Given the description of an element on the screen output the (x, y) to click on. 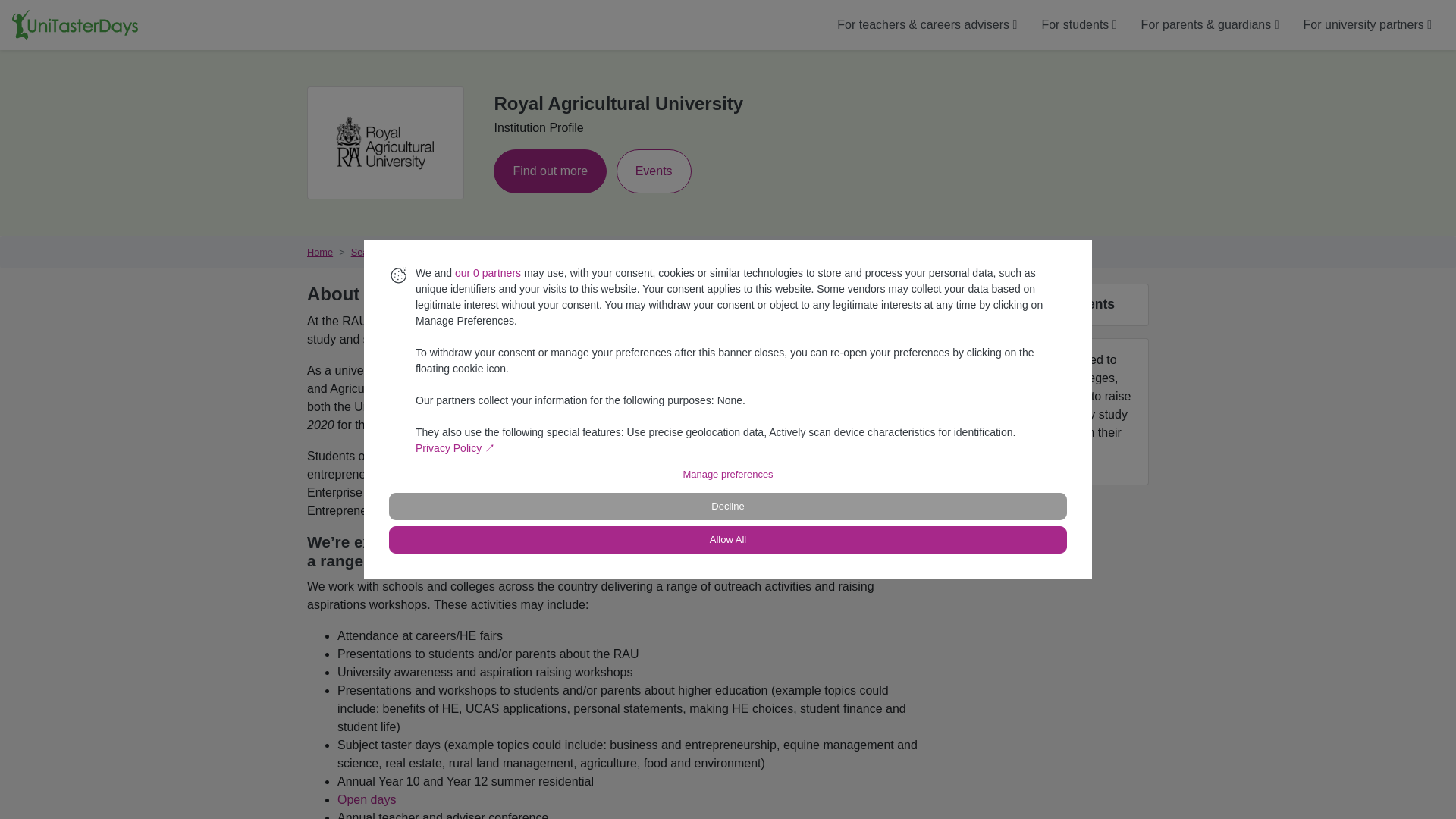
For university partners (1367, 24)
For students (1078, 24)
Events (653, 170)
Find out more (550, 170)
Home (320, 251)
